Given the description of an element on the screen output the (x, y) to click on. 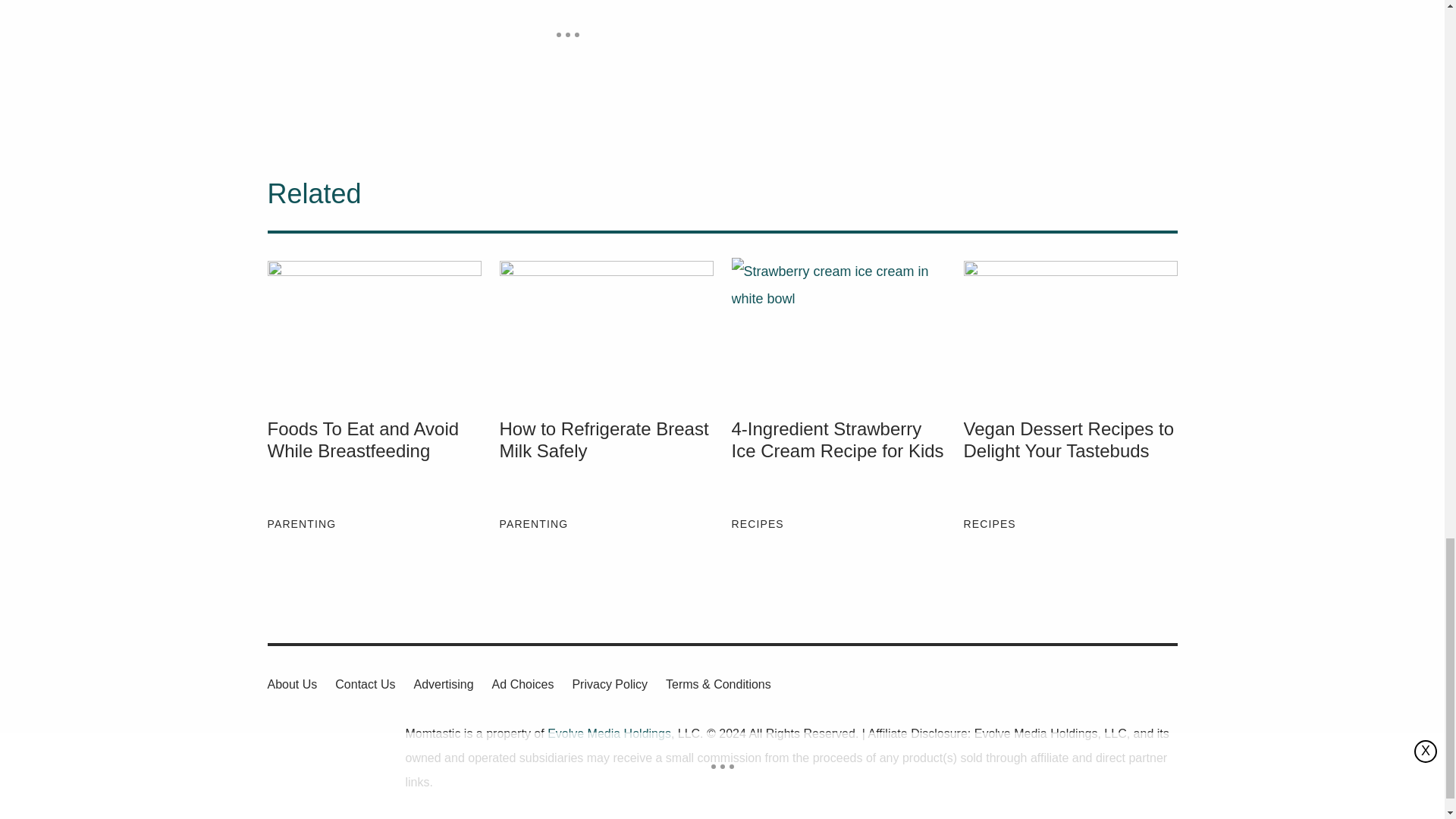
How to Refrigerate Breast Milk Safely (606, 462)
Vegan Dessert Recipes to Delight Your Tastebuds (1069, 328)
Foods To Eat and Avoid While Breastfeeding (373, 462)
4-Ingredient Strawberry Ice Cream Recipe for Kids (837, 328)
4-Ingredient Strawberry Ice Cream Recipe for Kids (837, 462)
Foods To Eat and Avoid While Breastfeeding (373, 328)
How to Refrigerate Breast Milk Safely (606, 328)
